Given the description of an element on the screen output the (x, y) to click on. 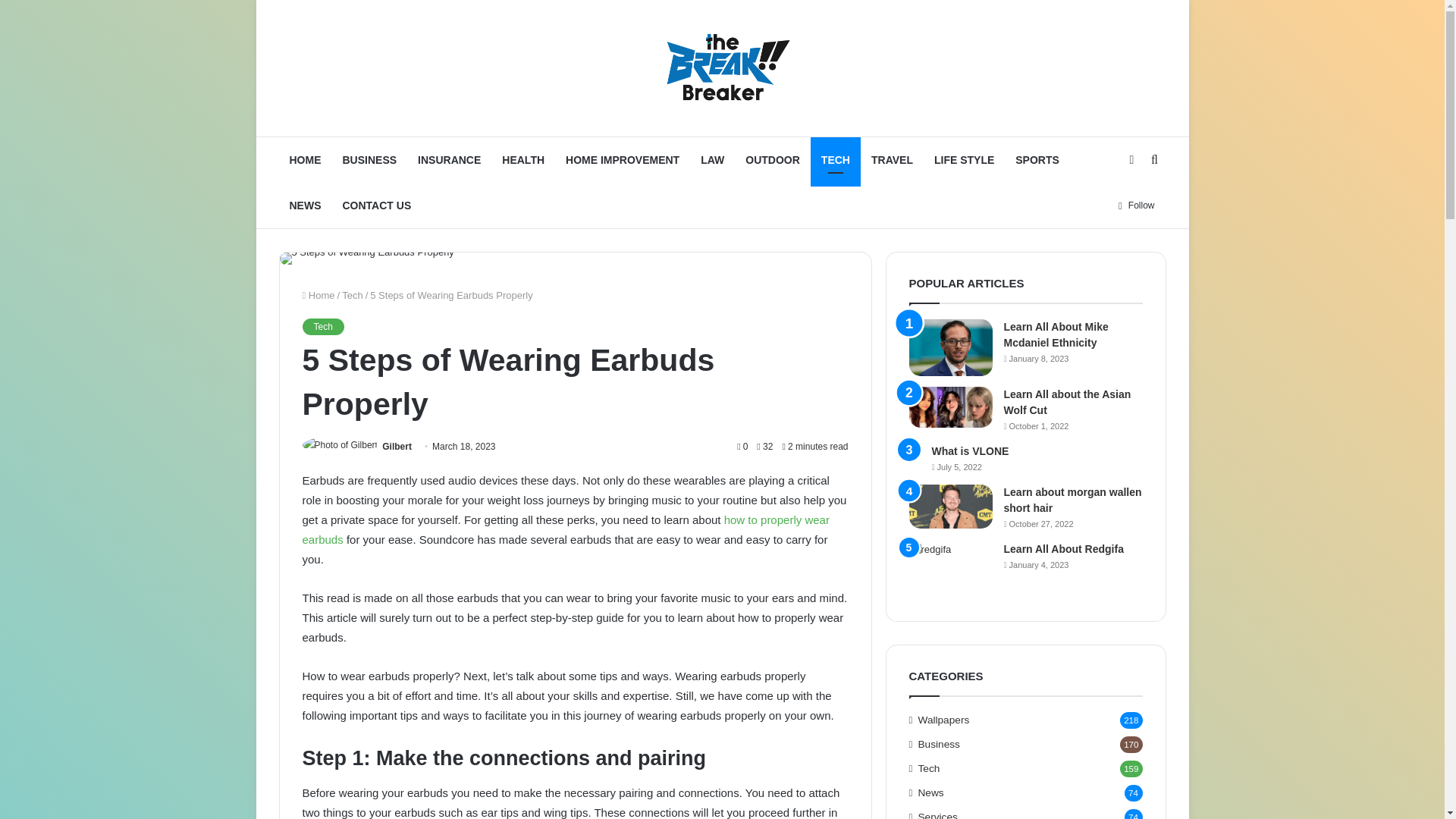
CONTACT US (376, 205)
Home (317, 295)
OUTDOOR (772, 159)
INSURANCE (449, 159)
LIFE STYLE (963, 159)
TECH (835, 159)
HEALTH (523, 159)
TRAVEL (891, 159)
NEWS (305, 205)
Tech (352, 295)
The Break Breaker (721, 68)
HOME (305, 159)
BUSINESS (369, 159)
Gilbert (396, 446)
Gilbert (396, 446)
